Given the description of an element on the screen output the (x, y) to click on. 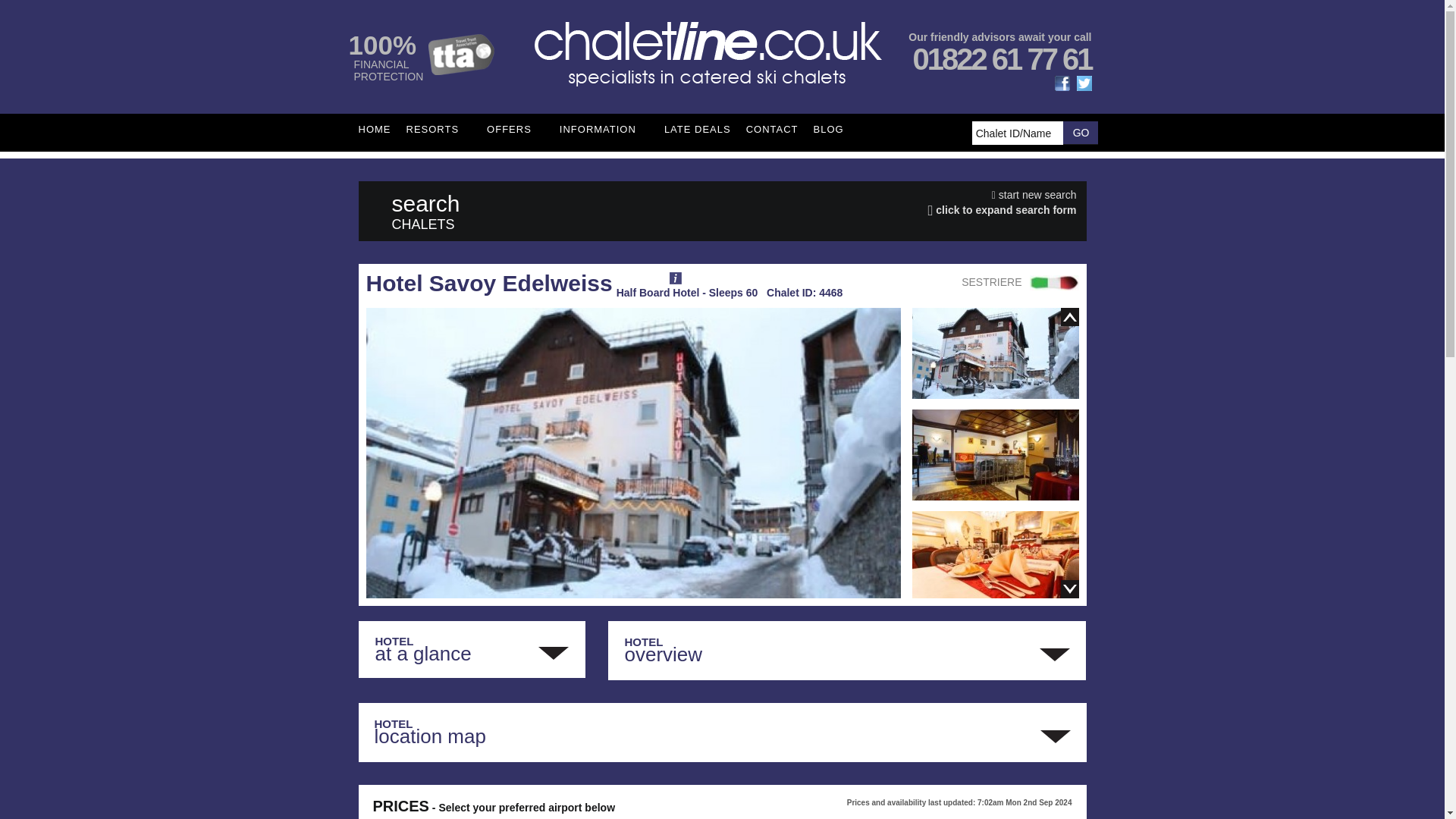
01822 61 77 61 (1001, 59)
HOME (374, 129)
GO (1079, 132)
GO (1079, 132)
RESORTS (438, 129)
